Given the description of an element on the screen output the (x, y) to click on. 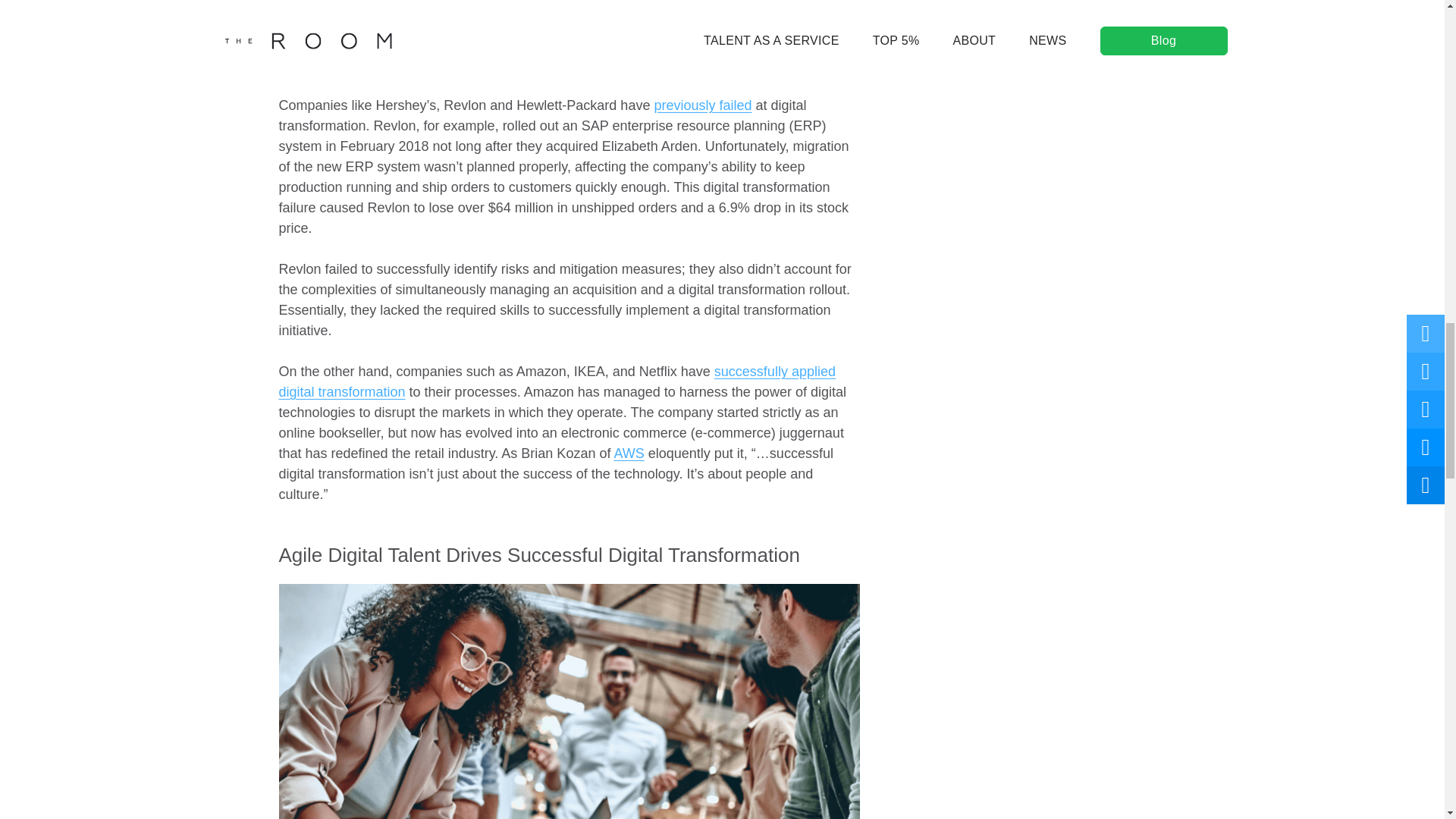
previously failed (702, 105)
AWS (627, 453)
successfully applied digital transformation (557, 381)
